Given the description of an element on the screen output the (x, y) to click on. 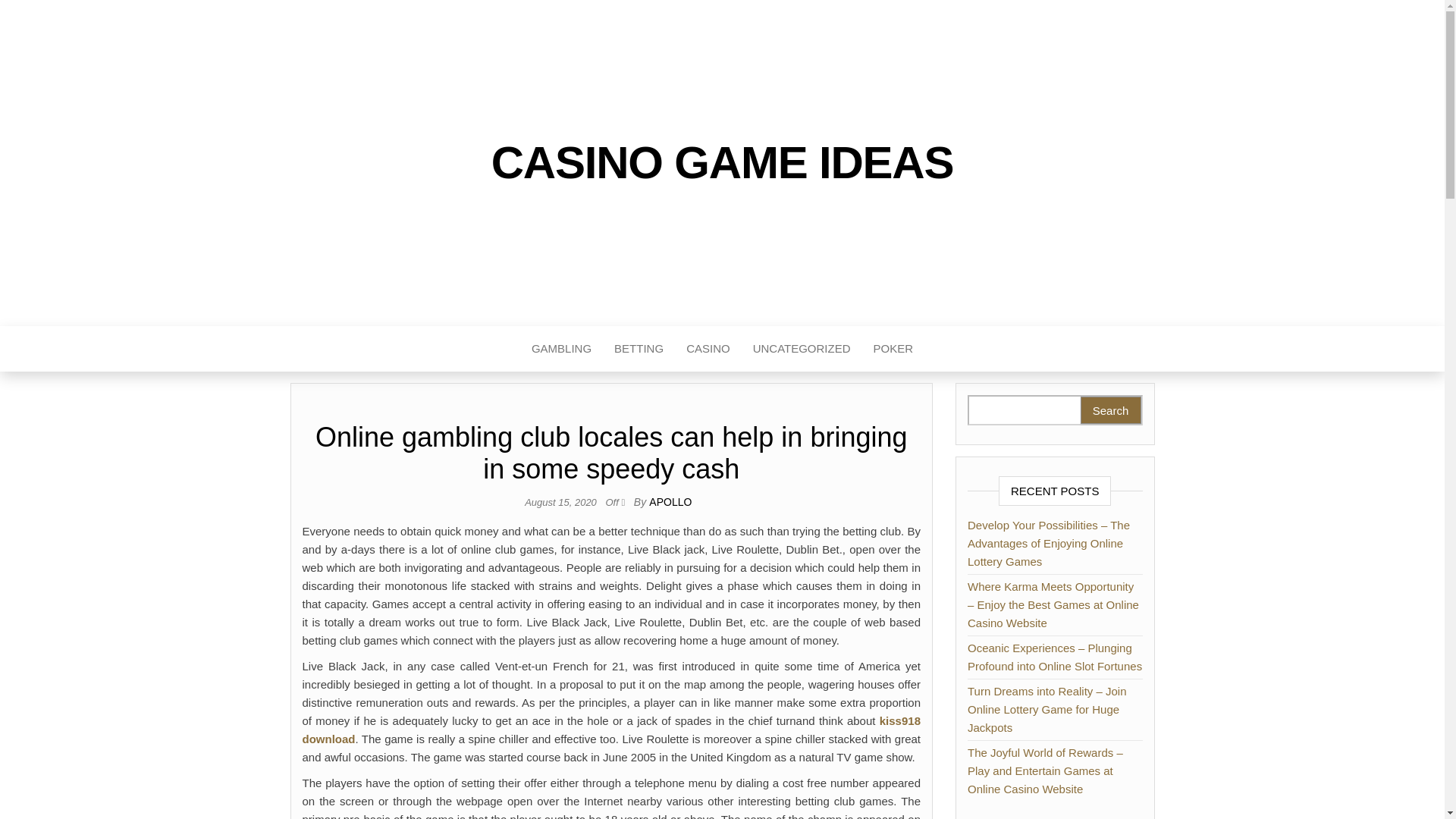
Search (1110, 410)
Betting (638, 348)
APOLLO (670, 501)
UNCATEGORIZED (801, 348)
BETTING (638, 348)
Gambling (560, 348)
POKER (892, 348)
Search (1110, 410)
Poker (892, 348)
GAMBLING (560, 348)
